Given the description of an element on the screen output the (x, y) to click on. 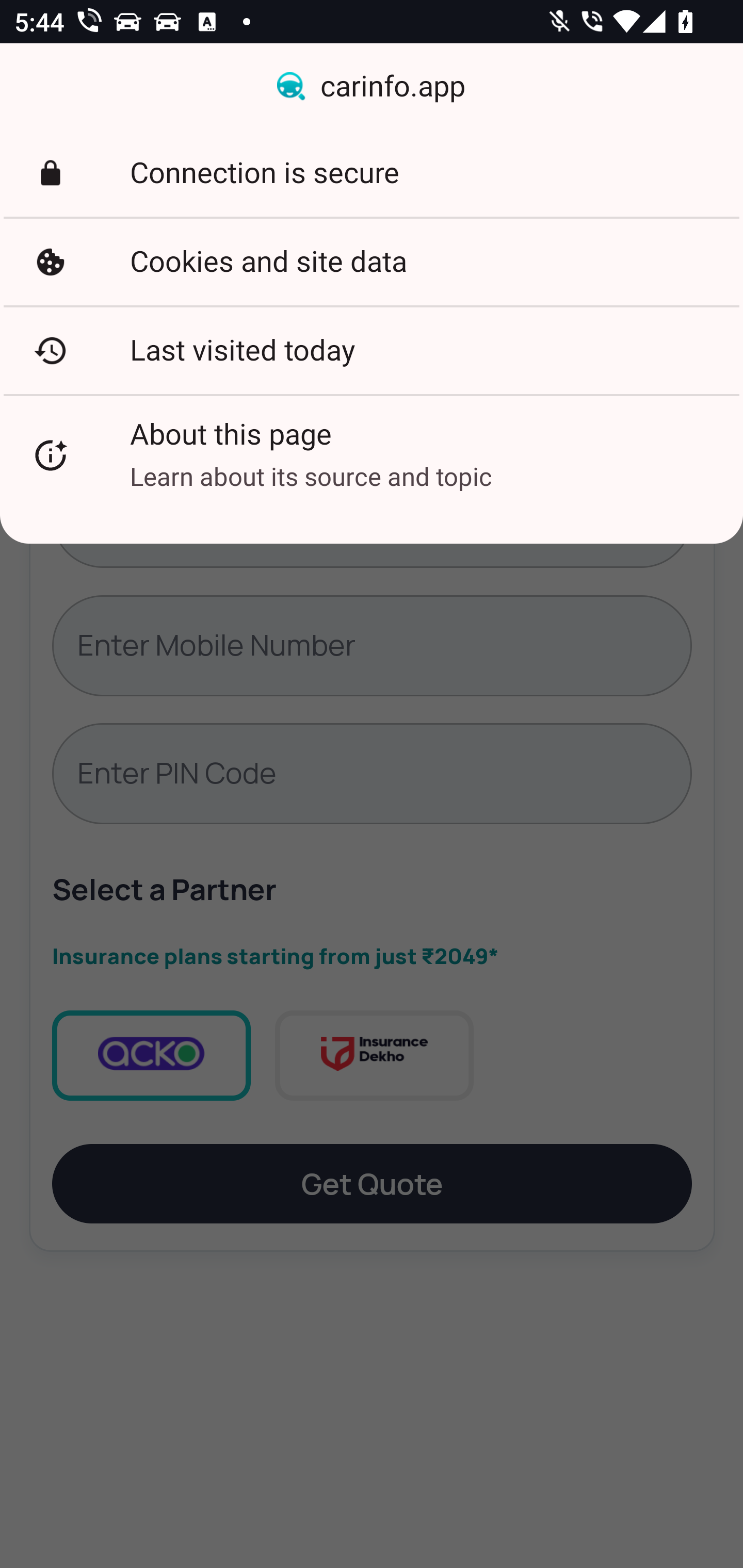
carinfo.app (371, 86)
Connection is secure (371, 173)
Cookies and site data (371, 261)
Last visited today (371, 350)
About this page Learn about its source and topic (371, 455)
